Given the description of an element on the screen output the (x, y) to click on. 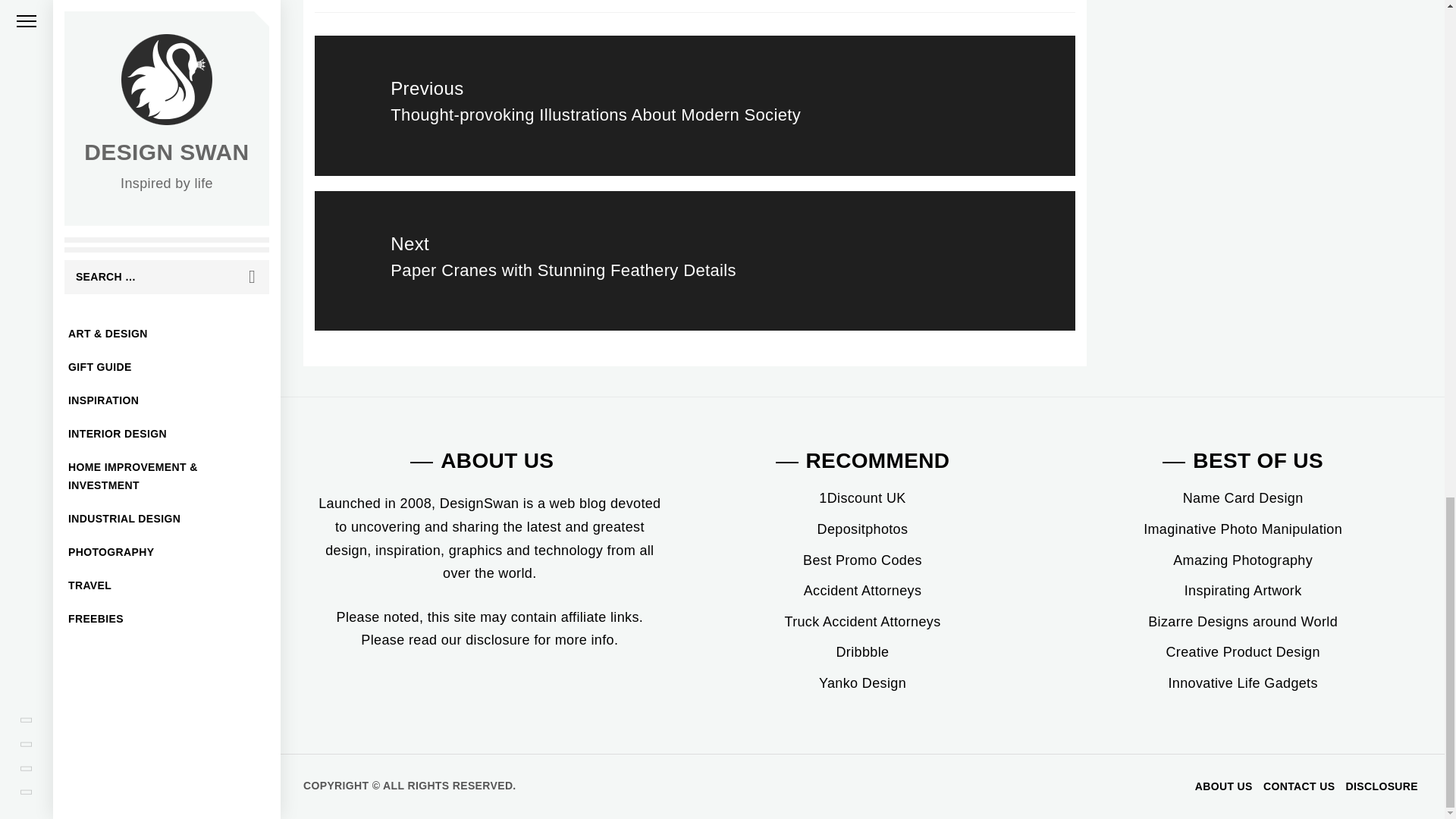
Inspirating Artwork (1243, 590)
Imaginative Photo Manipulation (1242, 529)
Amazing Photography  (1243, 560)
Bizarre Designs around World (1243, 621)
Creative Product Design  (1242, 652)
Name Card Design (1242, 498)
UK Voucher Codes (861, 498)
